Given the description of an element on the screen output the (x, y) to click on. 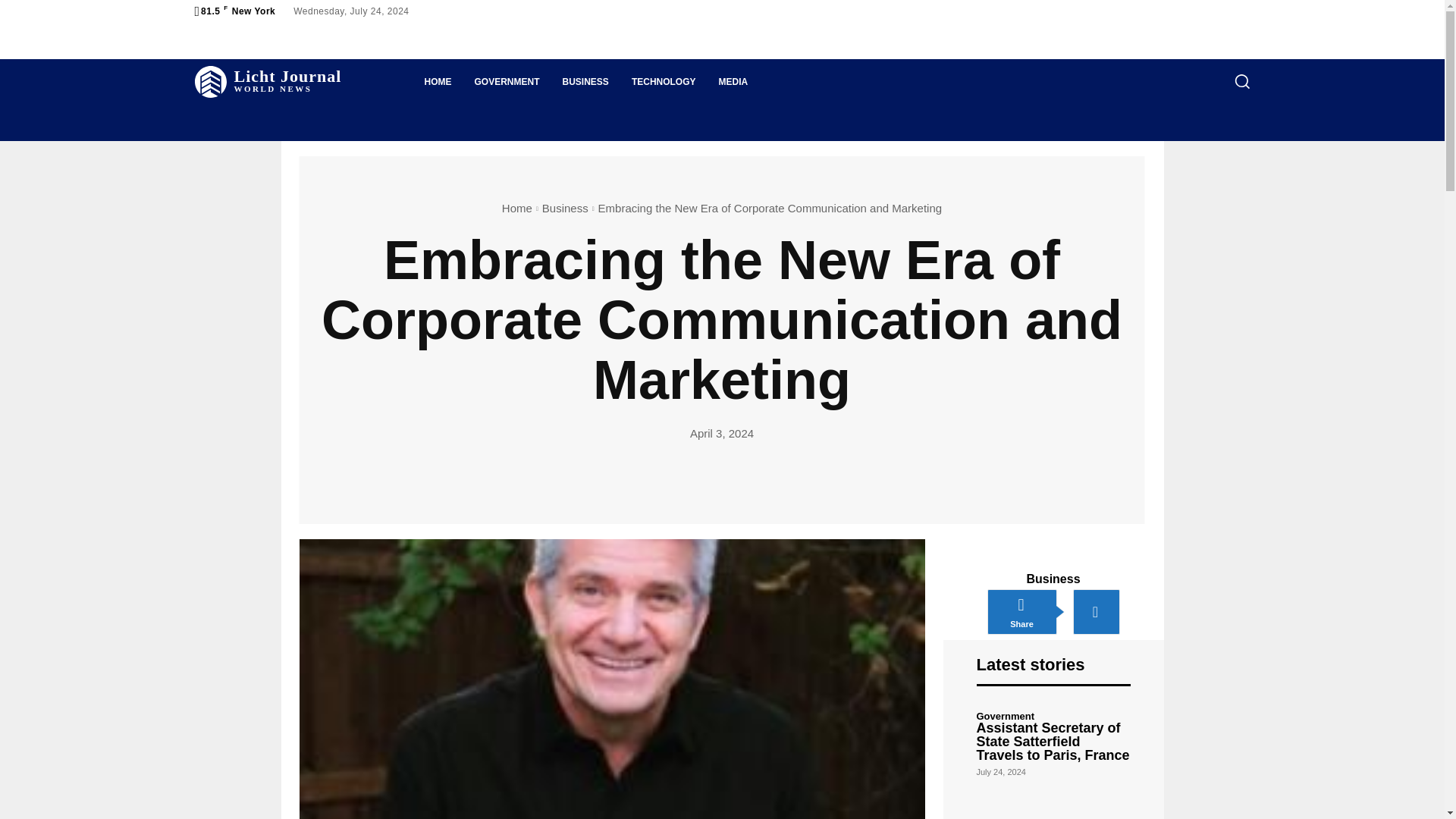
HOME (437, 81)
Home (517, 207)
Business (564, 207)
MEDIA (733, 81)
BUSINESS (585, 81)
GOVERNMENT (506, 81)
TECHNOLOGY (266, 81)
